Given the description of an element on the screen output the (x, y) to click on. 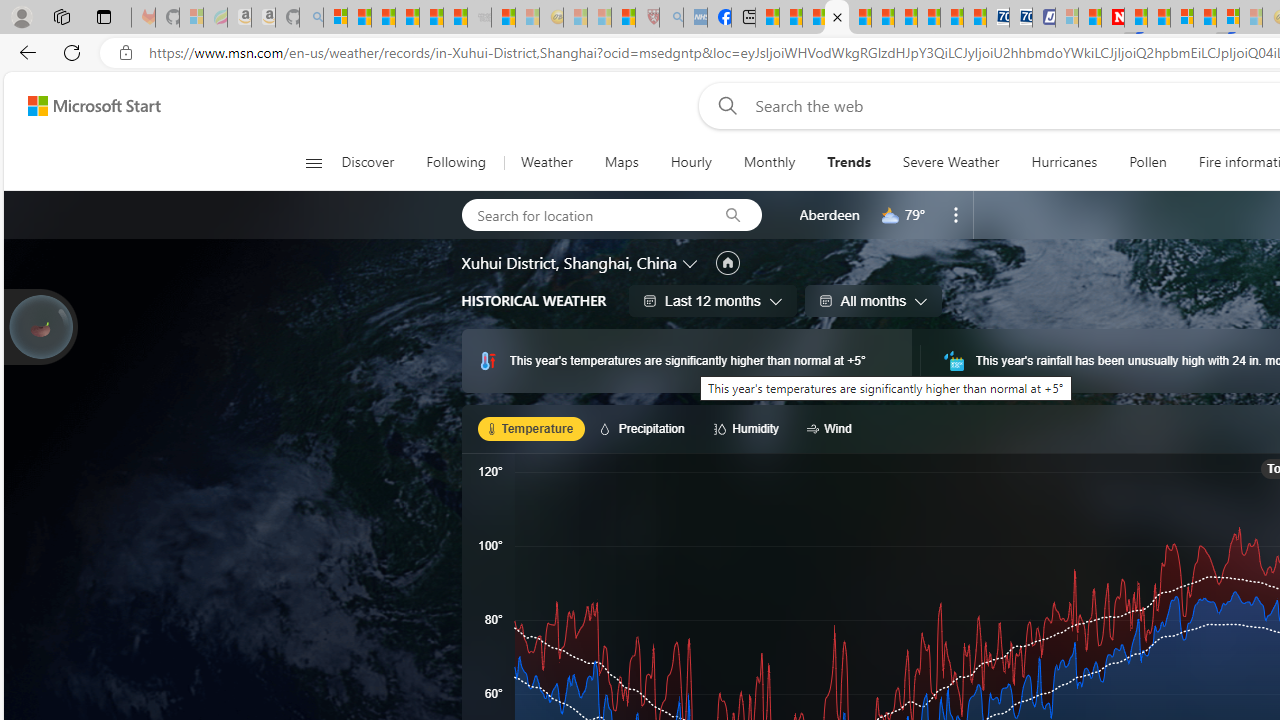
Remove location (956, 214)
Last 12 months (712, 300)
Severe Weather (950, 162)
Xuhui District, Shanghai, China (568, 263)
New Report Confirms 2023 Was Record Hot | Watch (430, 17)
Precipitation (645, 428)
Change location (691, 262)
